Given the description of an element on the screen output the (x, y) to click on. 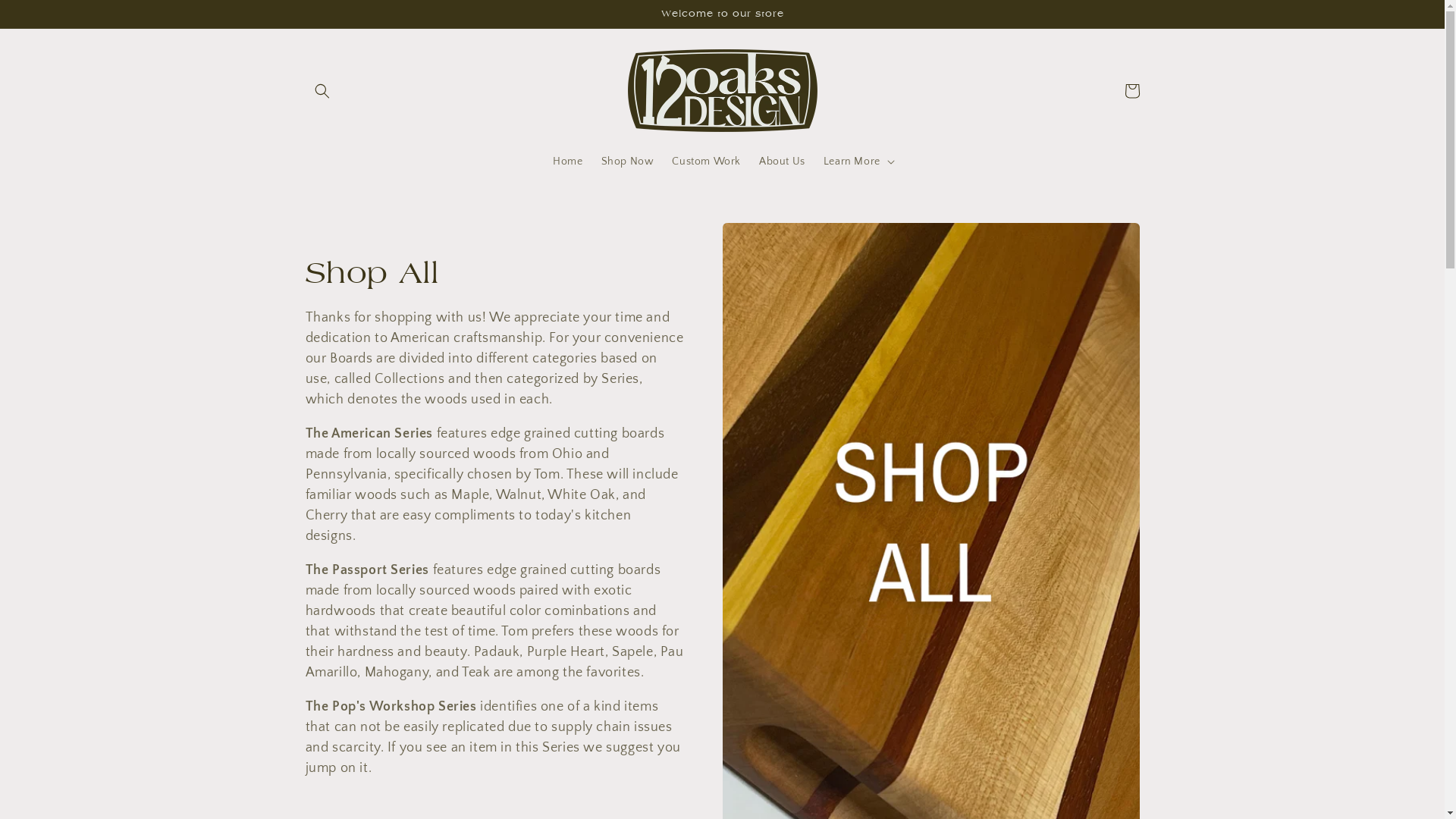
Cart Element type: text (1131, 90)
Home Element type: text (567, 161)
Shop Now Element type: text (627, 161)
About Us Element type: text (781, 161)
Custom Work Element type: text (705, 161)
